Given the description of an element on the screen output the (x, y) to click on. 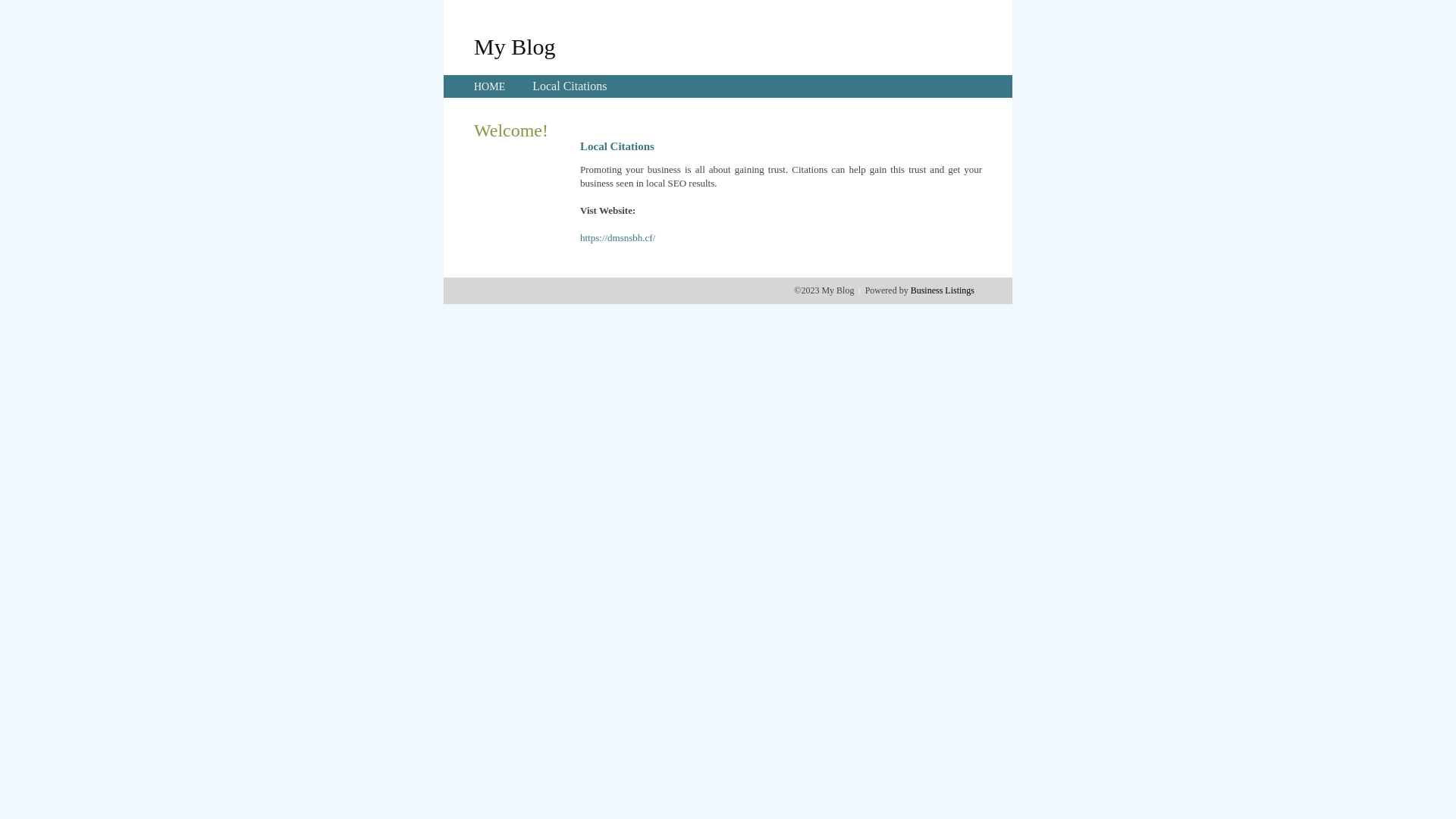
HOME Element type: text (489, 86)
My Blog Element type: text (514, 46)
Business Listings Element type: text (942, 290)
https://dmsnsbh.cf/ Element type: text (617, 237)
Local Citations Element type: text (569, 85)
